Given the description of an element on the screen output the (x, y) to click on. 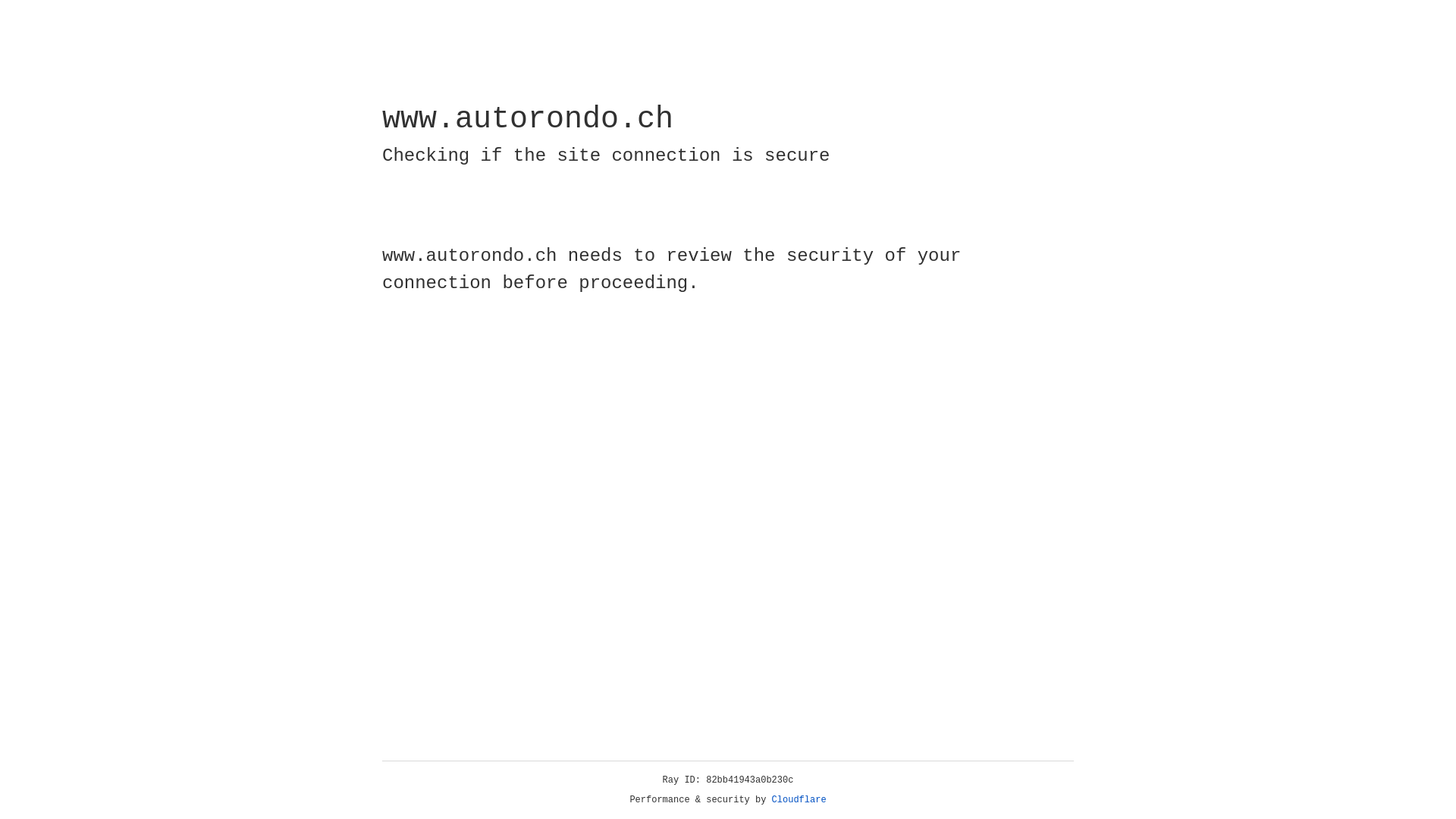
Cloudflare Element type: text (798, 799)
